Given the description of an element on the screen output the (x, y) to click on. 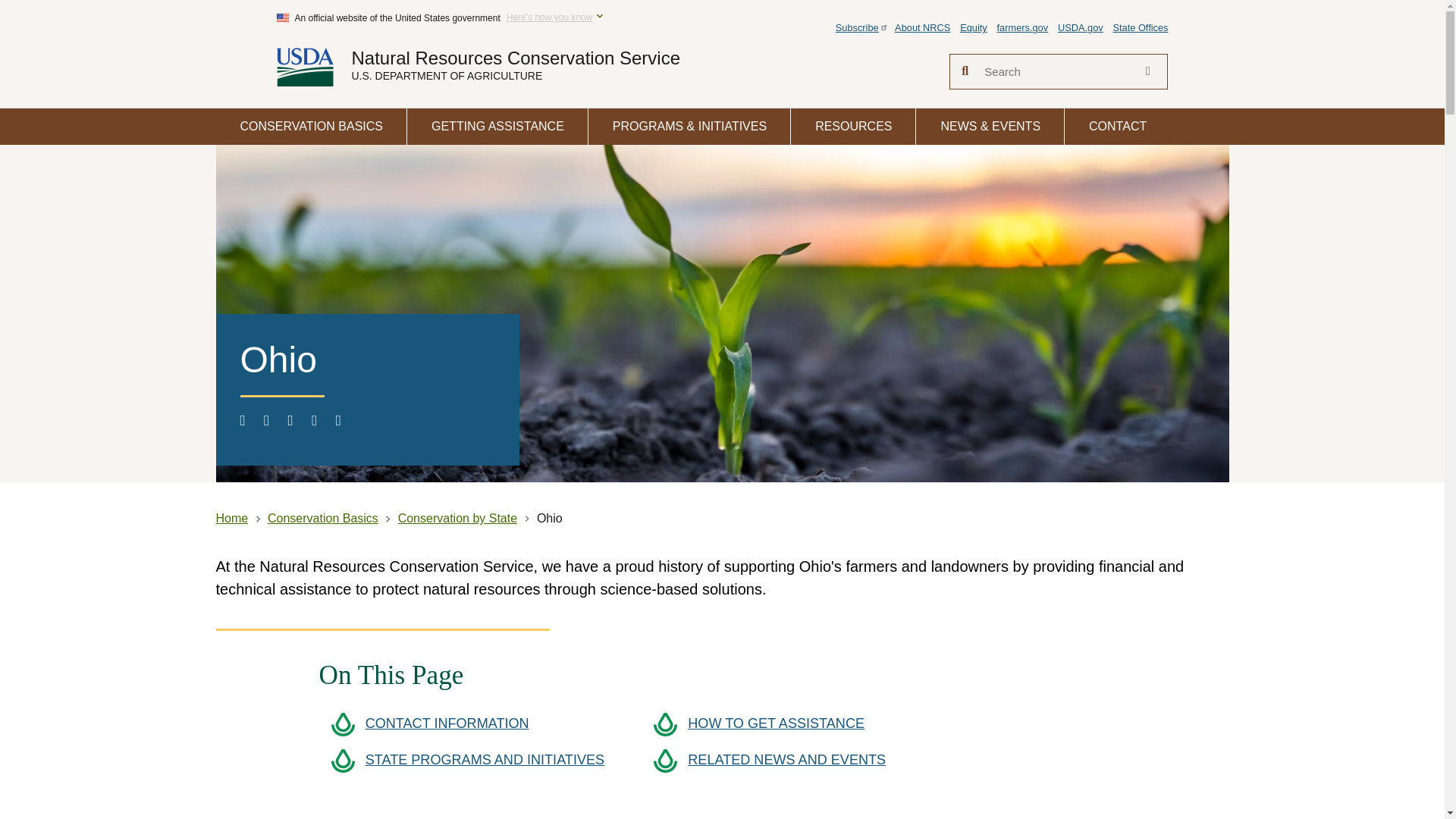
USDA.gov (1080, 27)
Natural Resources Conservation Service (516, 58)
GETTING ASSISTANCE (497, 126)
Natural Resources Conservation Service (313, 66)
About NRCS (922, 27)
Natural Resources Conservation Service (516, 58)
Here's how you know (549, 17)
State Offices (1139, 27)
CONSERVATION BASICS (310, 126)
Equity (973, 27)
